Given the description of an element on the screen output the (x, y) to click on. 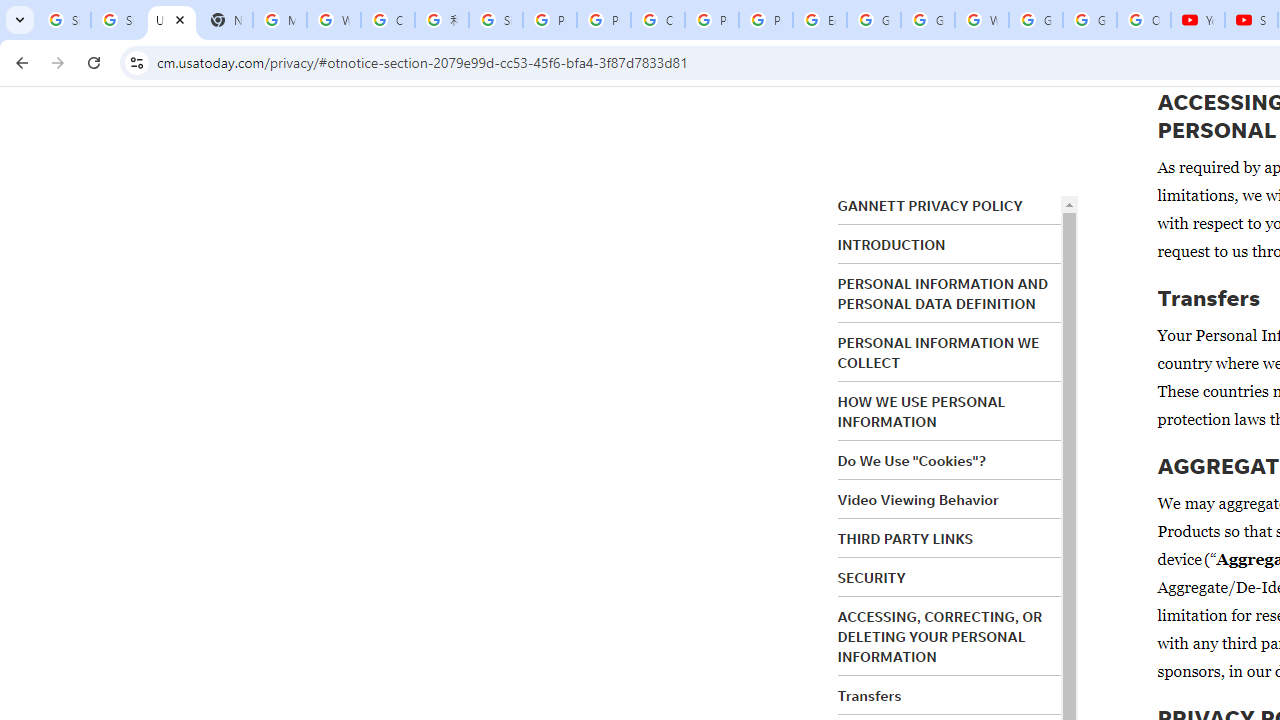
Sign in - Google Accounts (495, 20)
Do We Use "Cookies"? (911, 461)
Transfers (869, 695)
HOW WE USE PERSONAL INFORMATION (921, 412)
THIRD PARTY LINKS (905, 538)
PERSONAL INFORMATION AND PERSONAL DATA DEFINITION (943, 294)
USA TODAY (171, 20)
Create your Google Account (387, 20)
